Given the description of an element on the screen output the (x, y) to click on. 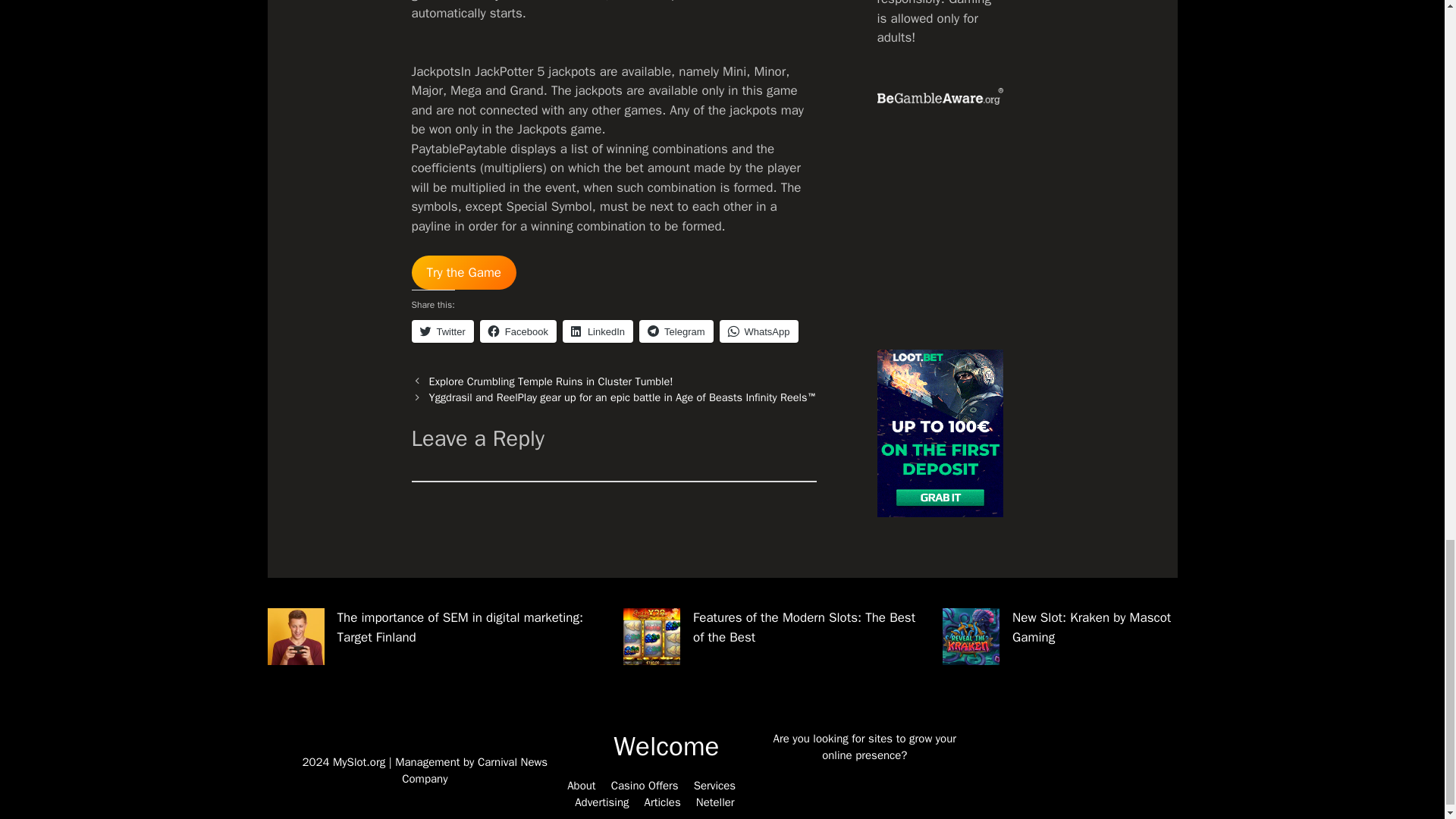
New Slot: Kraken by Mascot Gaming (1090, 627)
Casino Offers (644, 785)
Click to share on LinkedIn (597, 331)
About (581, 785)
WhatsApp (758, 331)
LinkedIn (597, 331)
Services (714, 785)
Try the Game (462, 272)
Click to share on Telegram (676, 331)
Articles (663, 802)
Explore Crumbling Temple Ruins in Cluster Tumble! (550, 381)
Twitter (441, 331)
Facebook (518, 331)
Advertising (601, 802)
Click to share on Twitter (441, 331)
